Given the description of an element on the screen output the (x, y) to click on. 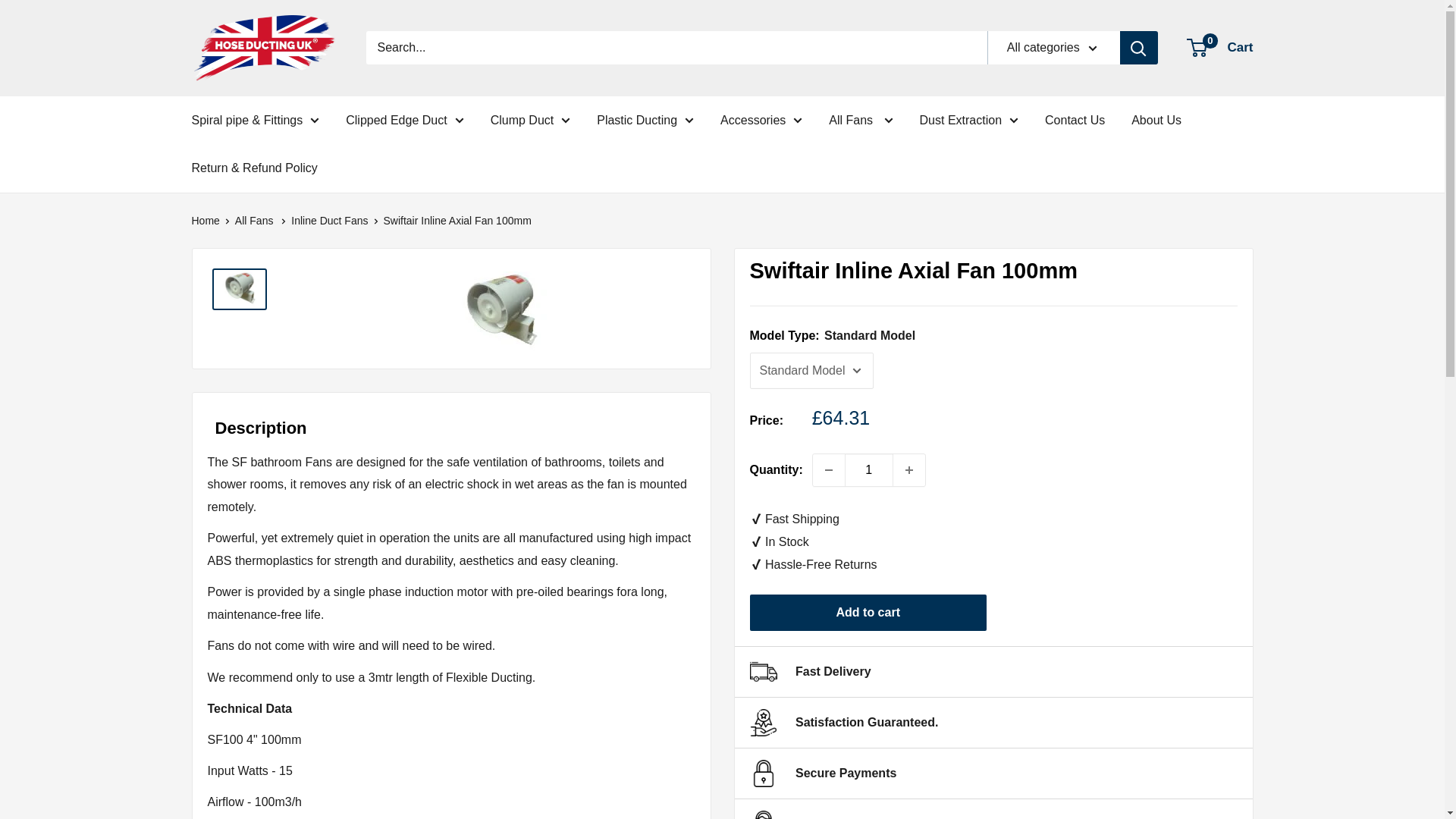
Decrease quantity by 1 (828, 470)
1 (868, 470)
Increase quantity by 1 (908, 470)
